Given the description of an element on the screen output the (x, y) to click on. 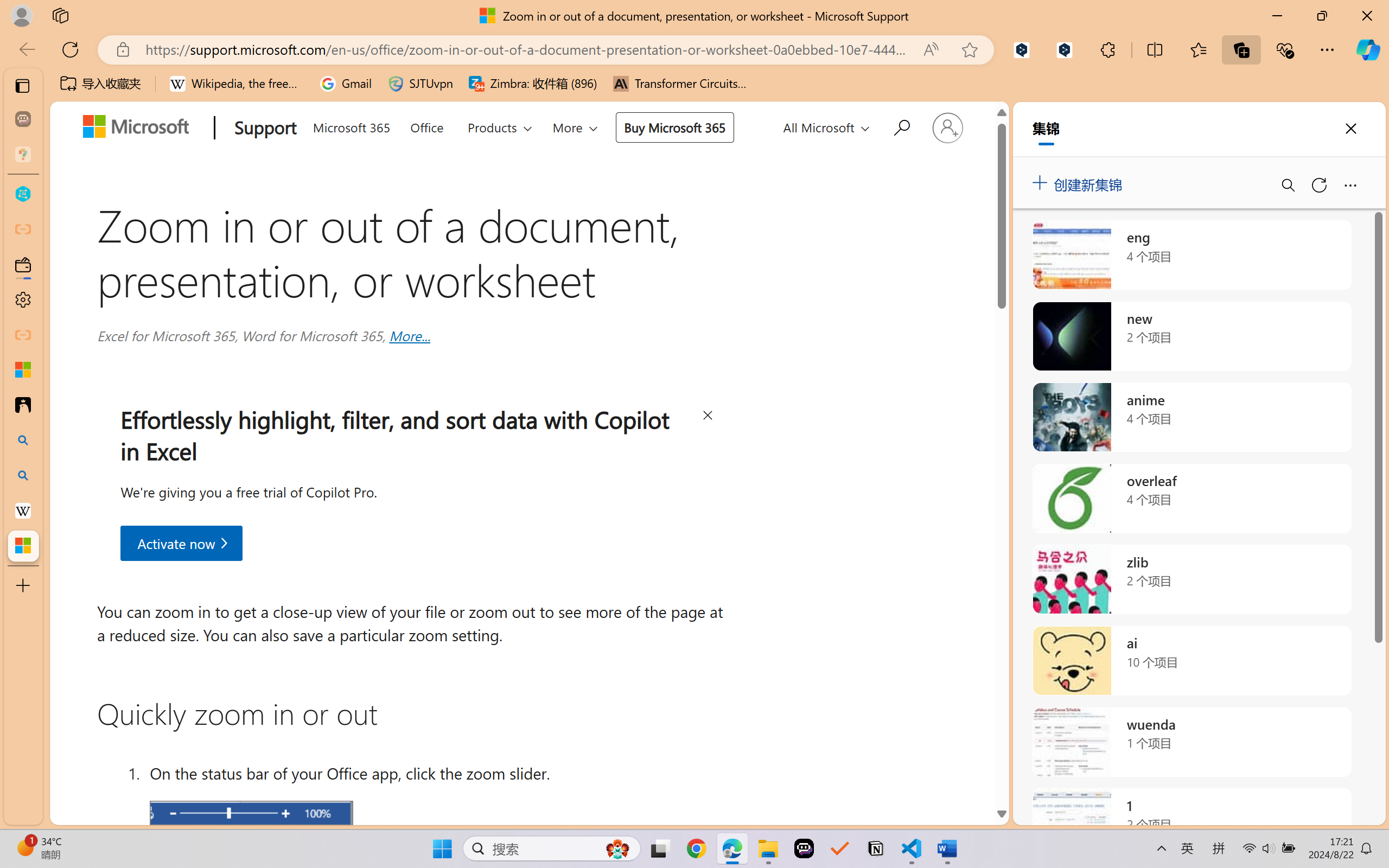
Microsoft 365 (351, 125)
Office (426, 125)
Close Ad (707, 417)
Wikipedia, the free encyclopedia (236, 83)
